Given the description of an element on the screen output the (x, y) to click on. 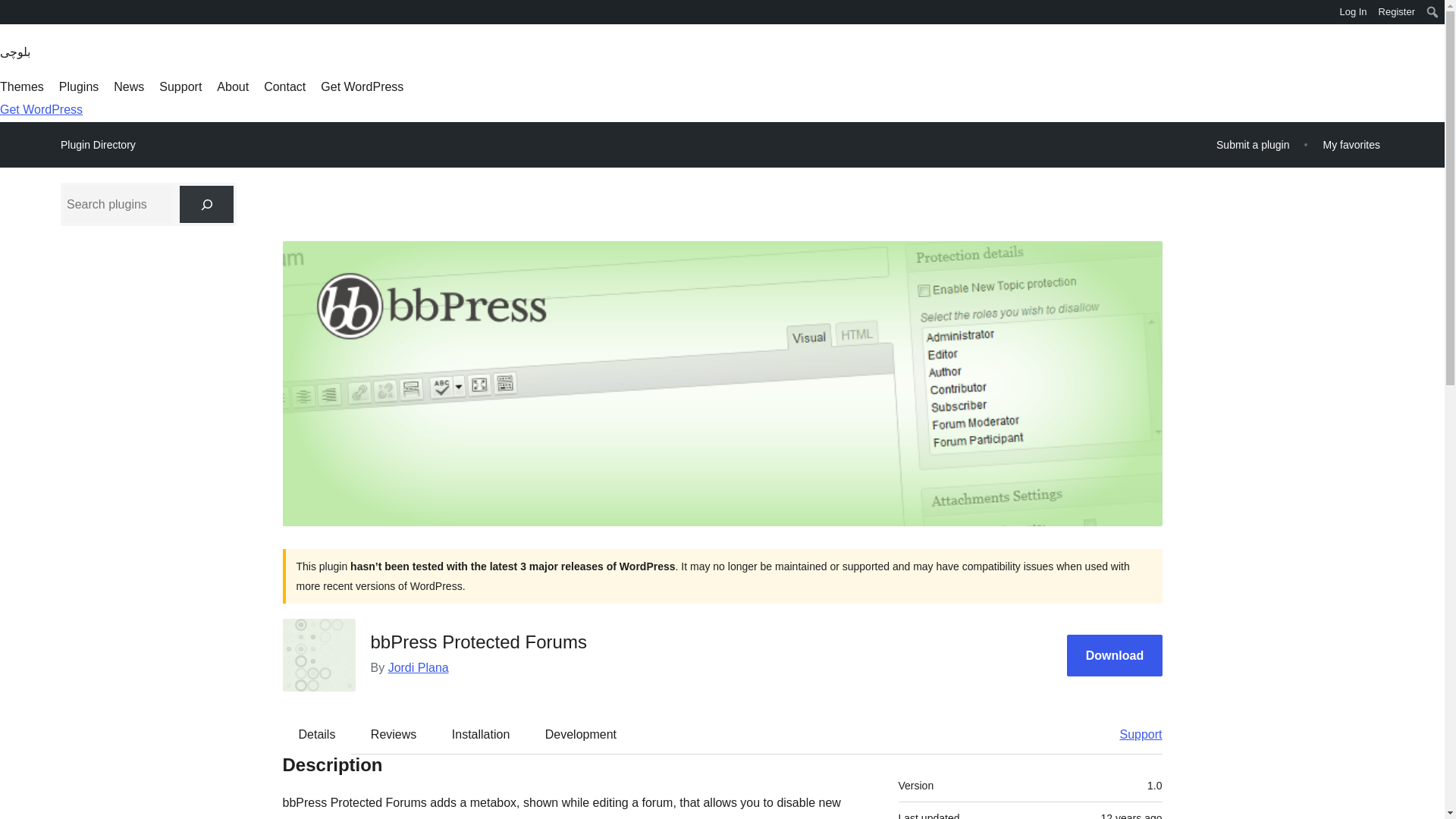
Plugin Directory (97, 144)
Get WordPress (41, 109)
WordPress.org (10, 10)
Support (180, 87)
Themes (21, 87)
Installation (480, 733)
Search (16, 13)
Log In (1353, 12)
WordPress.org (10, 16)
Contact (284, 87)
